Given the description of an element on the screen output the (x, y) to click on. 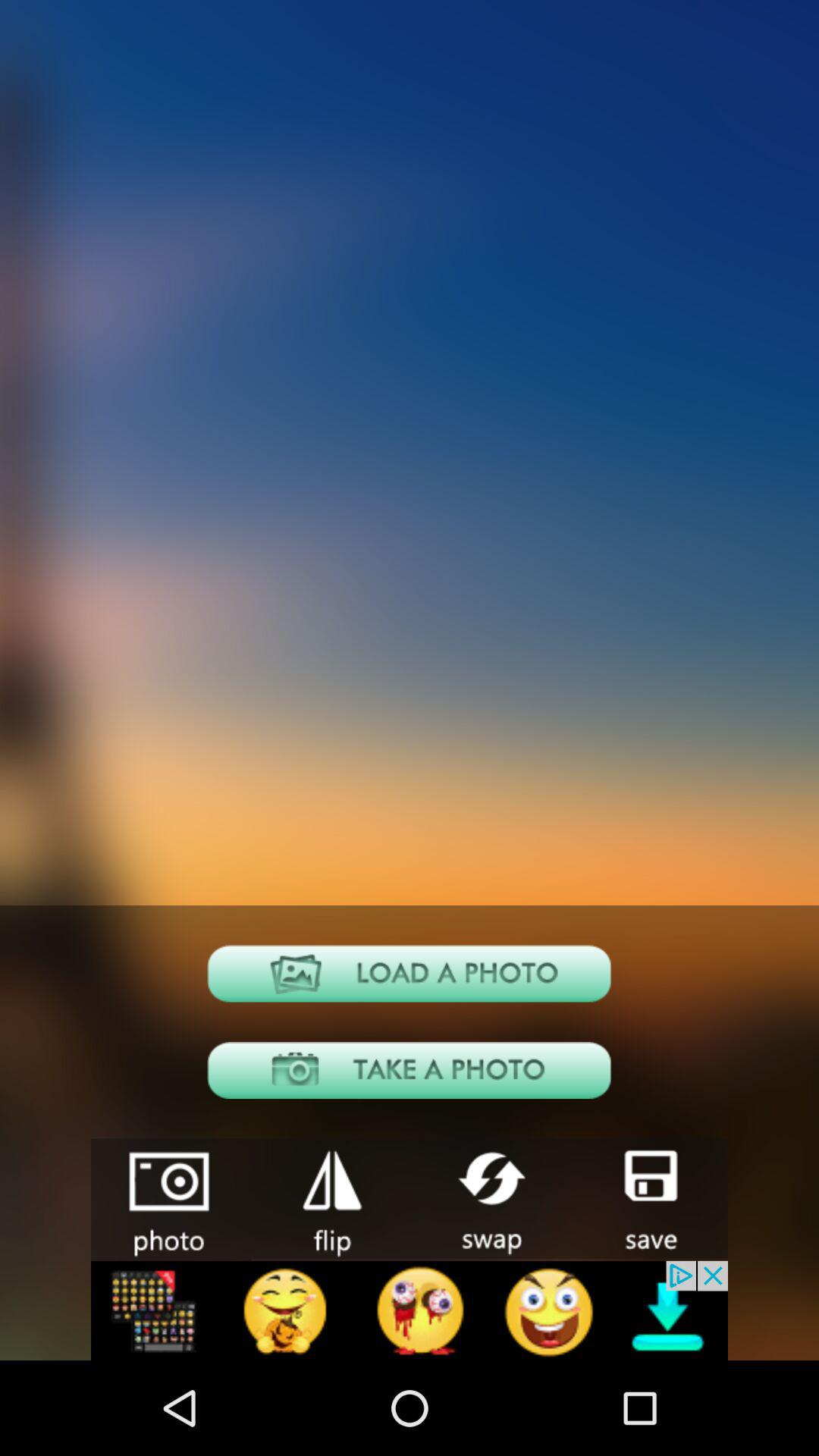
close the app (330, 1198)
